Given the description of an element on the screen output the (x, y) to click on. 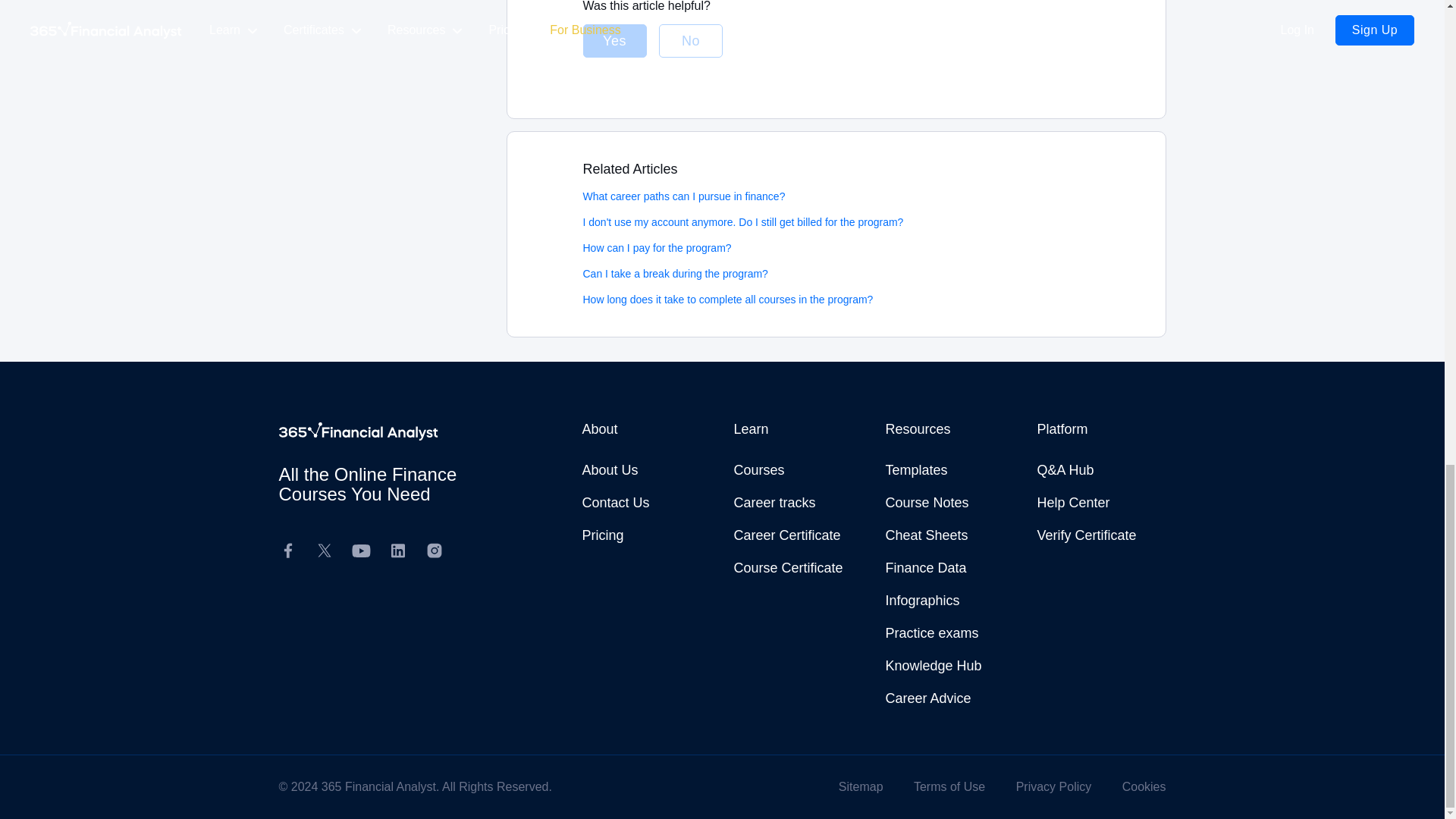
What career paths can I pursue in finance? (683, 196)
Yes (614, 40)
Can I take a break during the program? (674, 273)
How can I pay for the program? (656, 247)
No (690, 40)
